Given the description of an element on the screen output the (x, y) to click on. 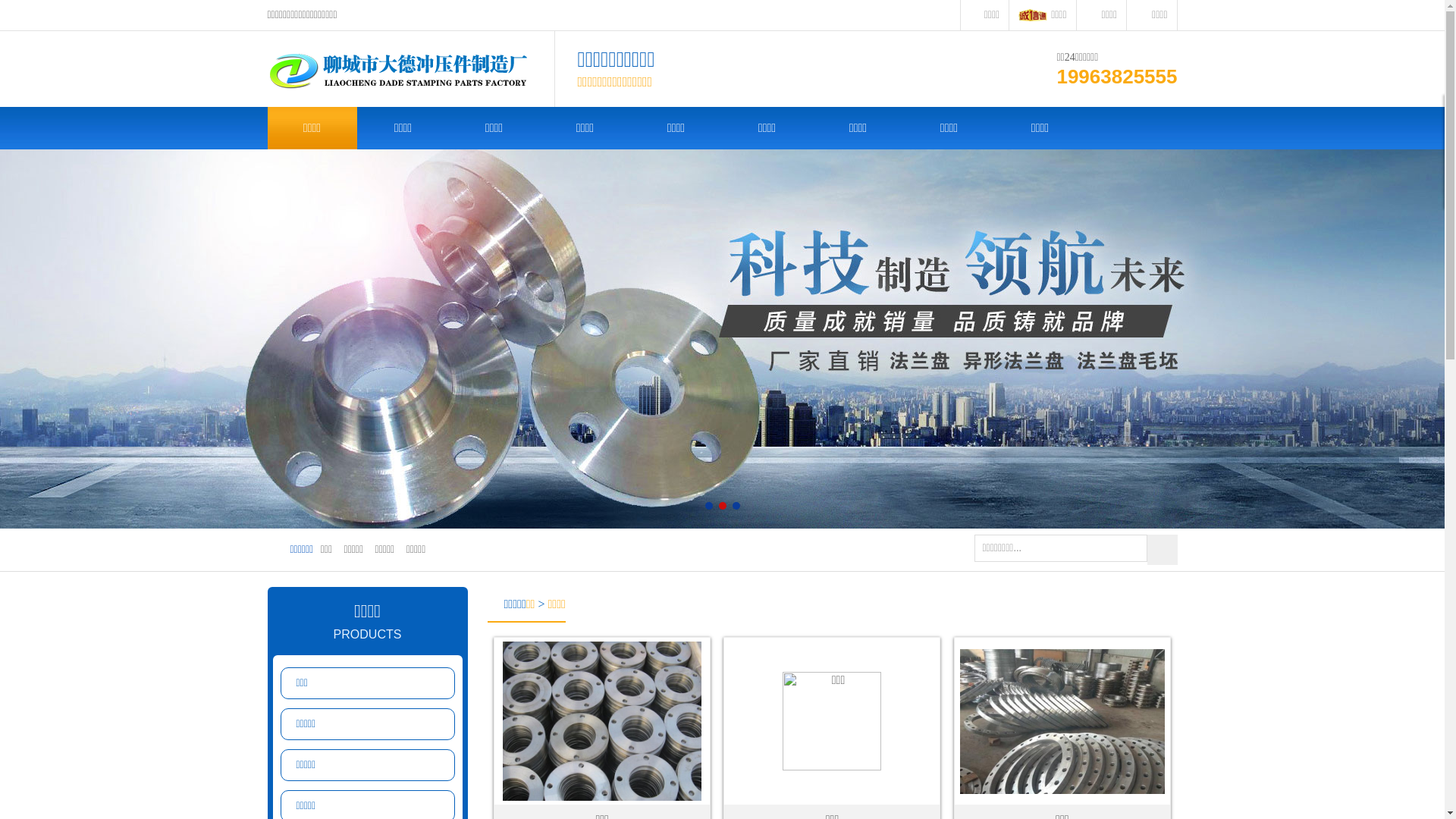
   Element type: text (1161, 549)
